Given the description of an element on the screen output the (x, y) to click on. 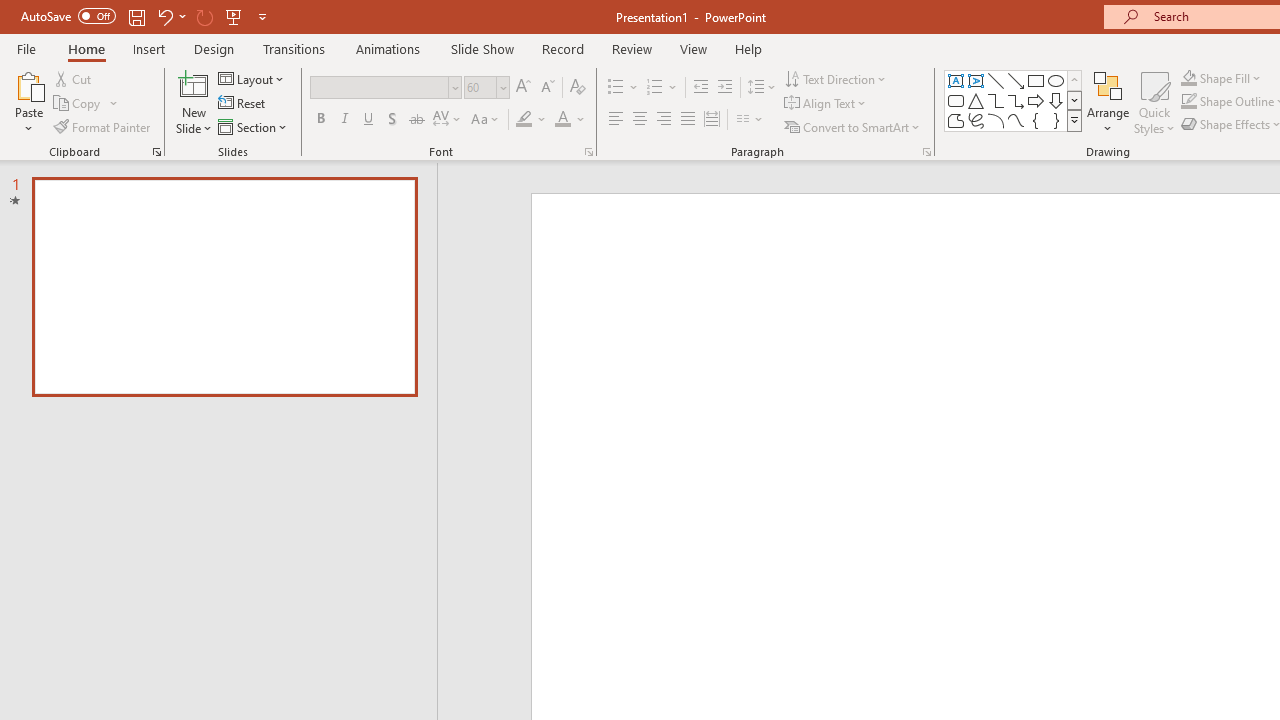
Open (502, 87)
Columns (750, 119)
Oval (1055, 80)
Convert to SmartArt (853, 126)
Section (254, 126)
Font Color Red (562, 119)
Quick Styles (1154, 102)
Increase Font Size (522, 87)
Change Case (486, 119)
Format Painter (103, 126)
